Given the description of an element on the screen output the (x, y) to click on. 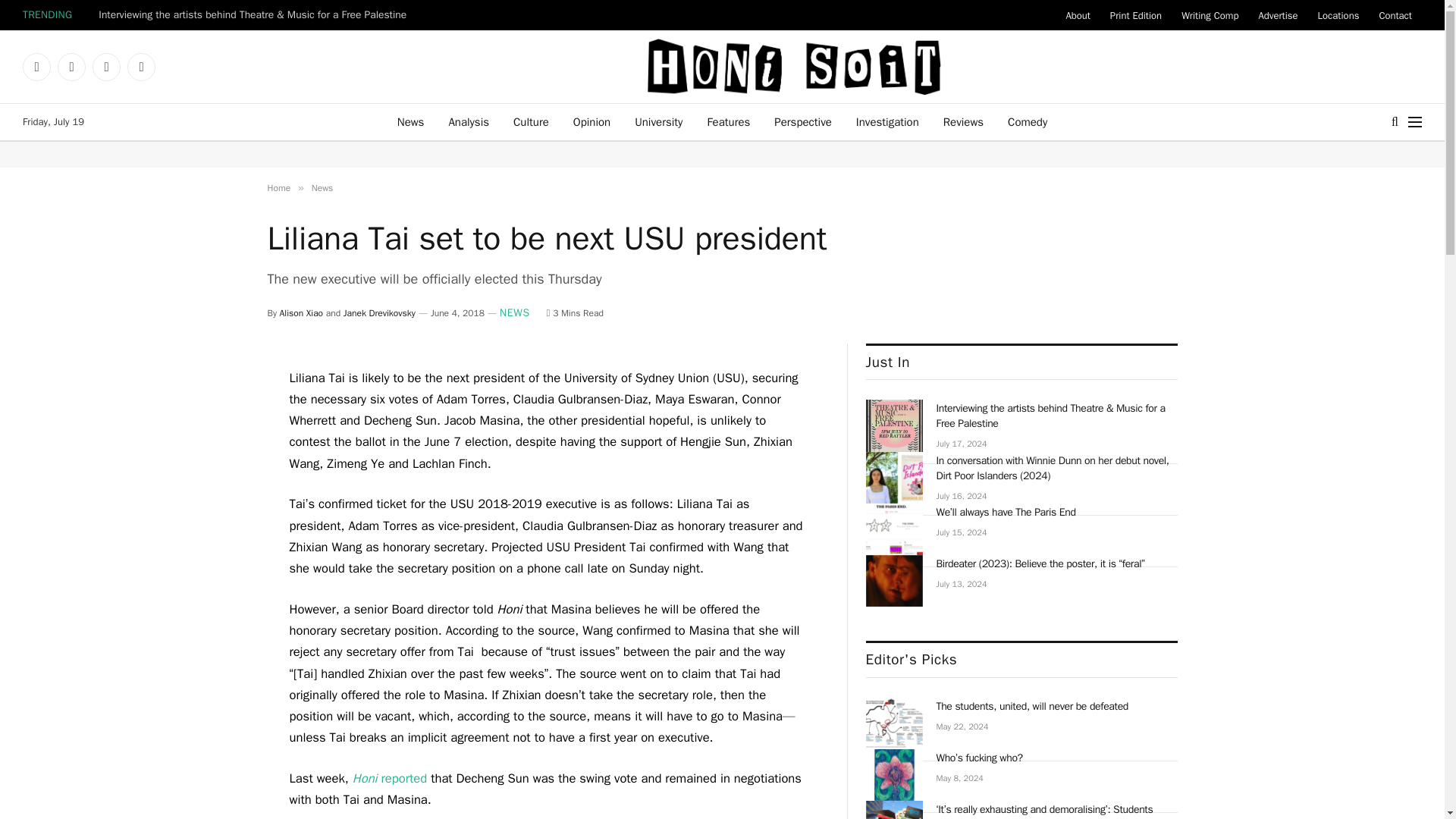
Reviews (963, 122)
Advertise (1277, 15)
Culture (530, 122)
Locations (1338, 15)
About (1077, 15)
Features (727, 122)
Posts by Janek Drevikovsky (378, 313)
University (658, 122)
Opinion (591, 122)
News (410, 122)
Analysis (467, 122)
Instagram (71, 67)
Writing Comp (1209, 15)
Home (277, 187)
Perspective (802, 122)
